Given the description of an element on the screen output the (x, y) to click on. 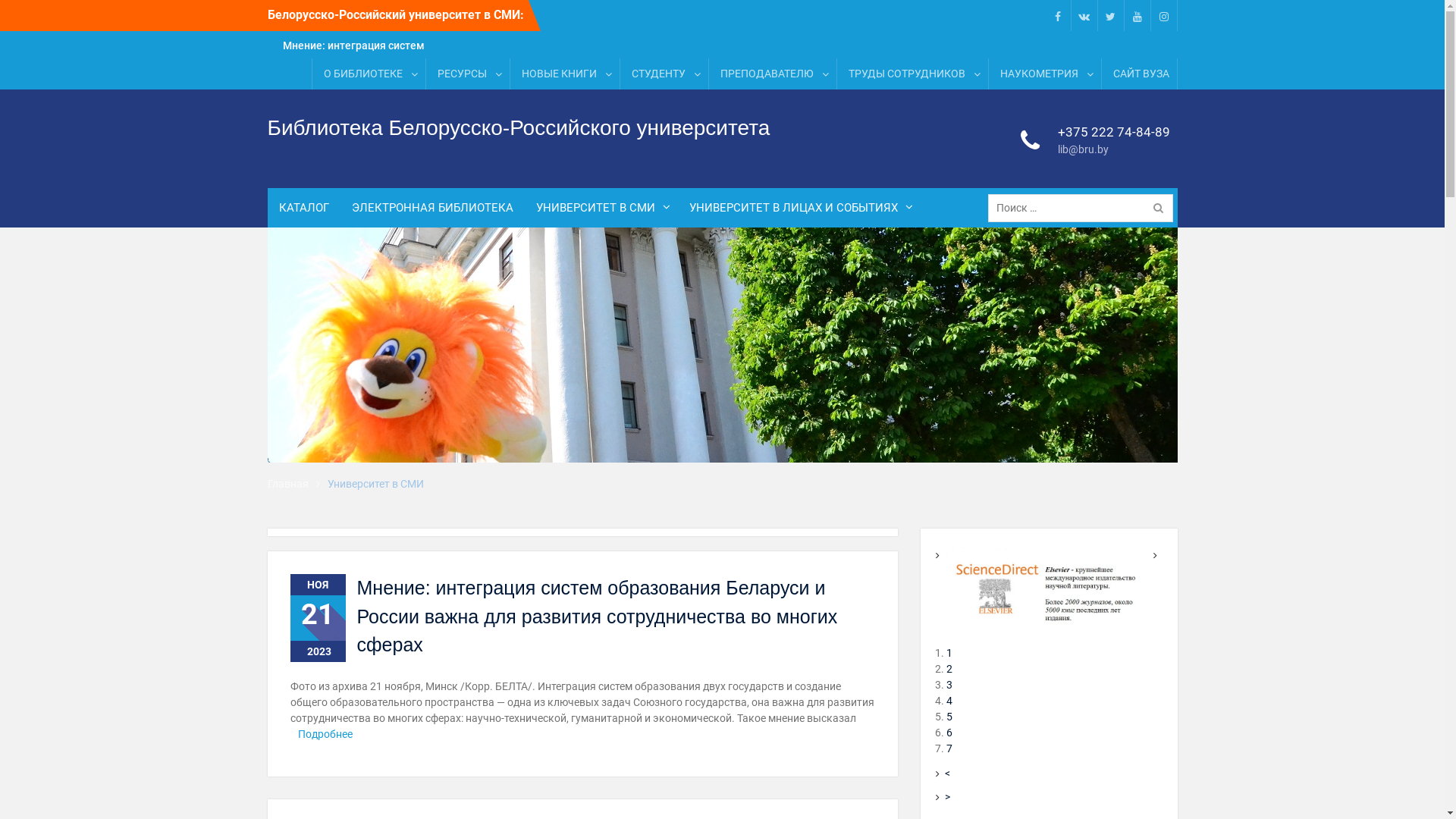
lib@bru.by Element type: text (1113, 149)
4 Element type: text (949, 700)
facebook Element type: text (1056, 15)
+375 222 74-84-89 Element type: text (1113, 132)
< Element type: text (947, 773)
vk Element type: text (1084, 15)
instagram Element type: text (1162, 15)
> Element type: text (947, 796)
2 Element type: text (949, 668)
youtube Element type: text (1137, 15)
1 Element type: text (949, 652)
twitter Element type: text (1109, 15)
6 Element type: text (949, 732)
5 Element type: text (949, 716)
7 Element type: text (949, 748)
3 Element type: text (949, 684)
